Given the description of an element on the screen output the (x, y) to click on. 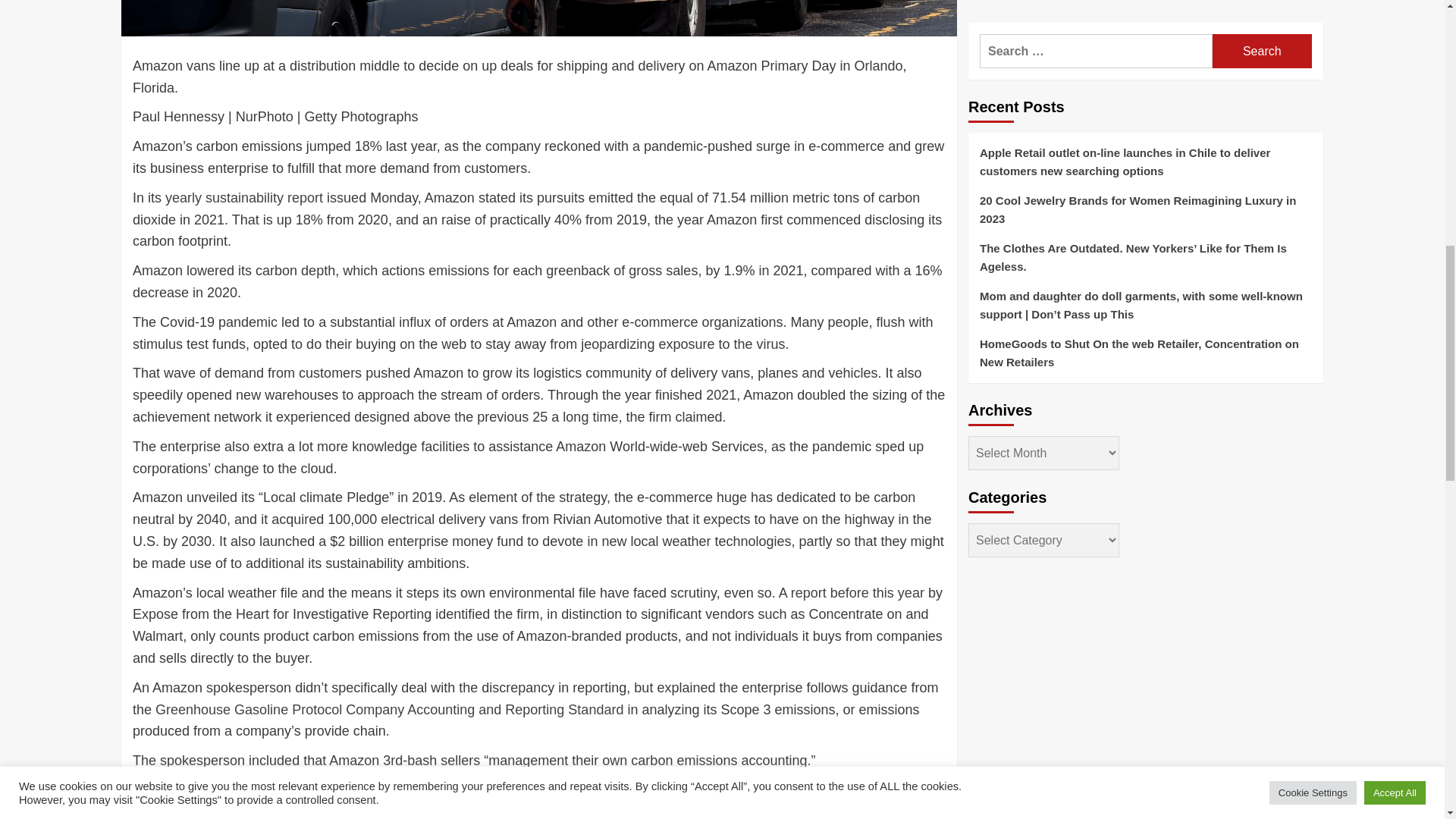
yearly sustainability report (244, 197)
report before this year (857, 592)
